Given the description of an element on the screen output the (x, y) to click on. 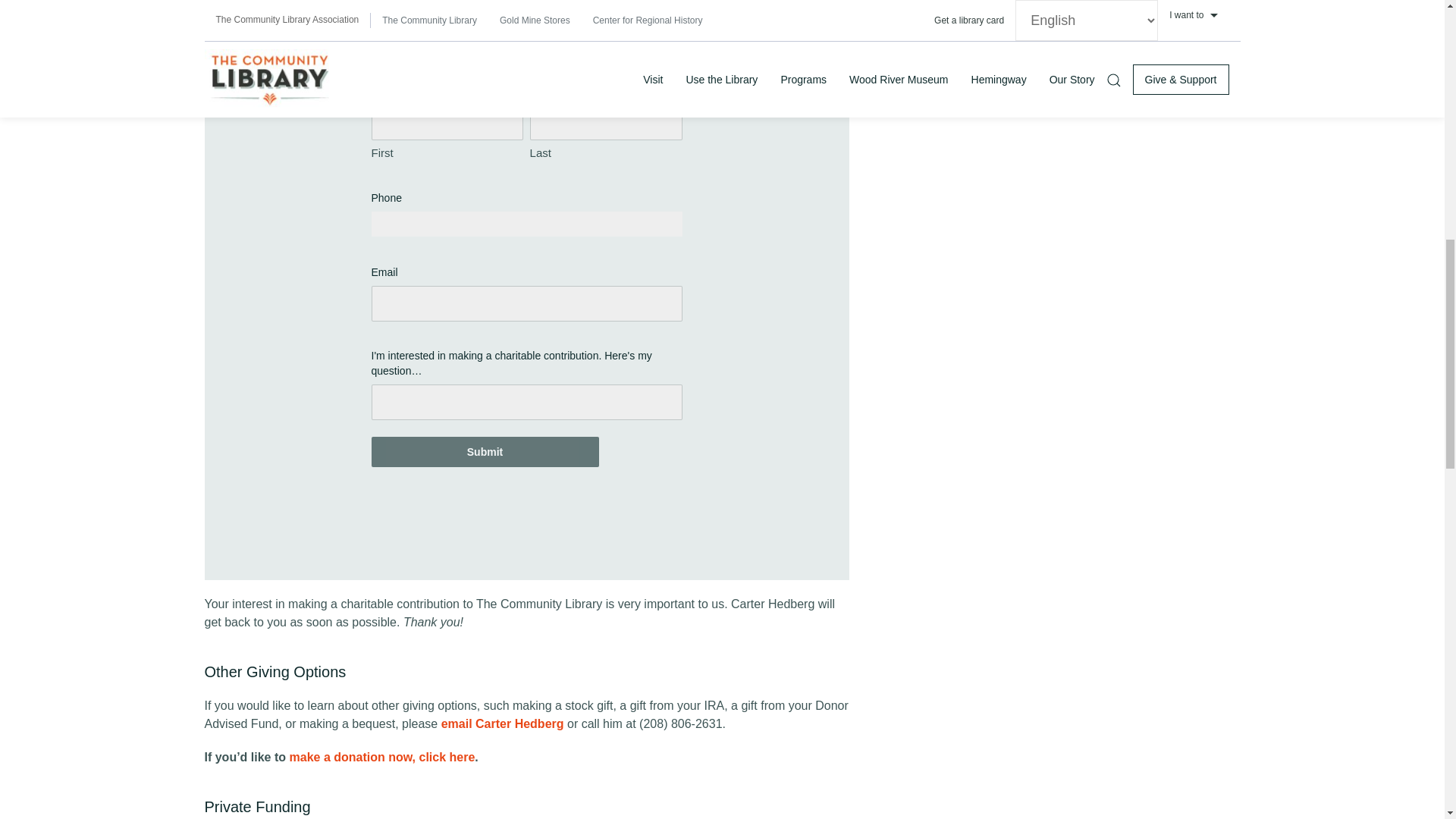
Submit (484, 451)
